Given the description of an element on the screen output the (x, y) to click on. 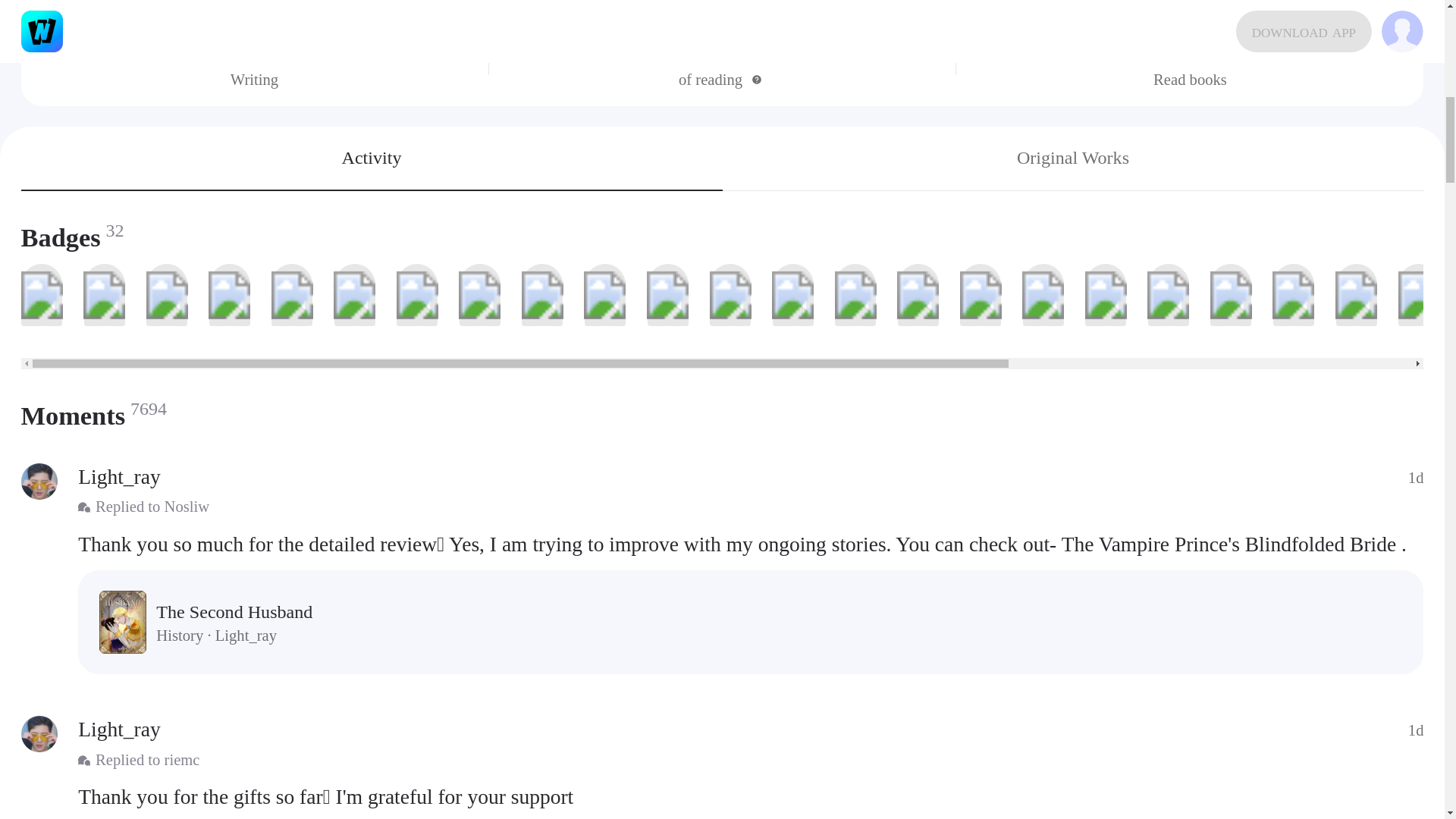
reply (750, 543)
Original Works (1072, 158)
Original Works (1072, 158)
reply (750, 796)
Activity (371, 158)
Activity (371, 158)
